Given the description of an element on the screen output the (x, y) to click on. 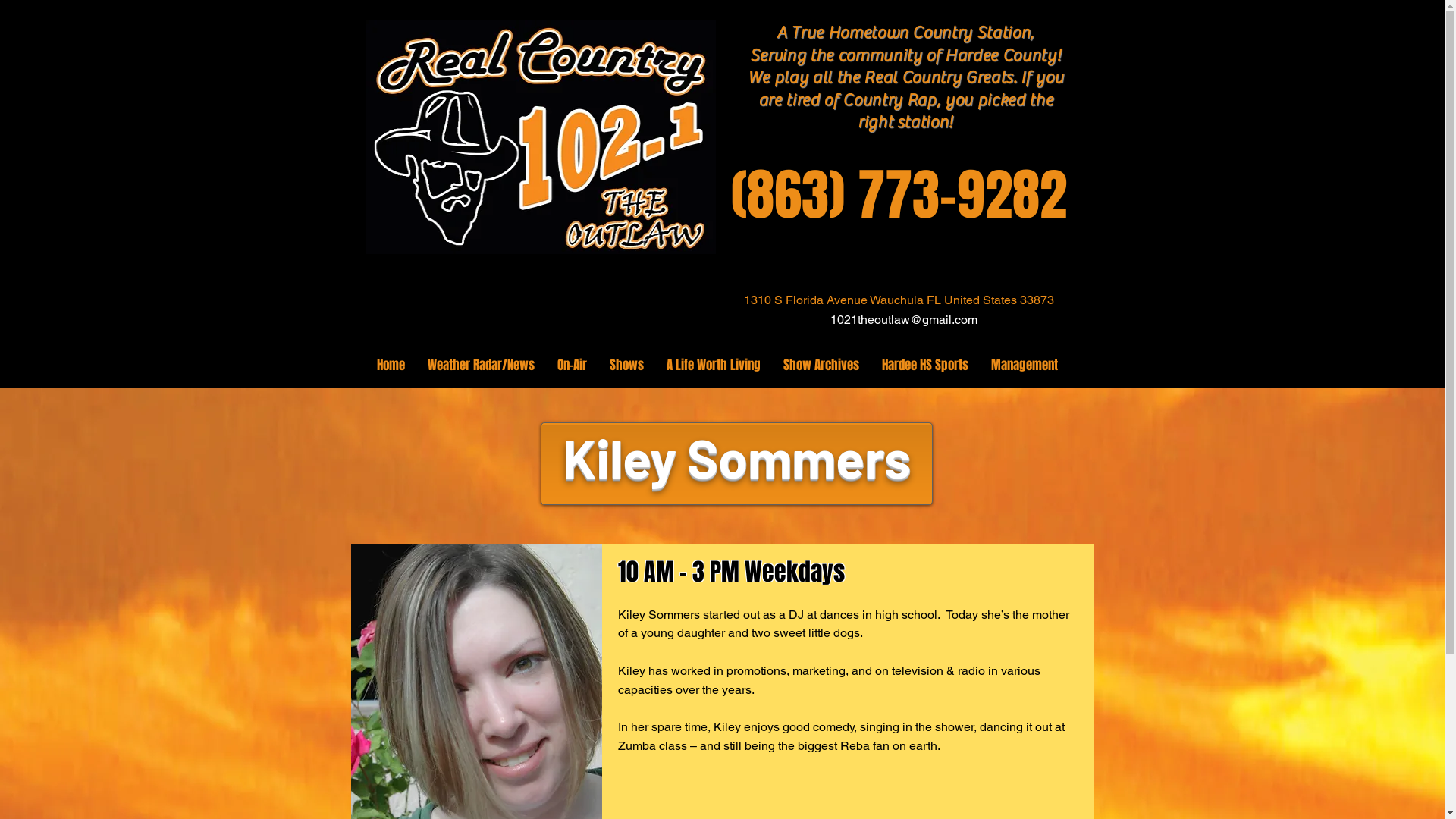
Show Archives Element type: text (820, 365)
Management Element type: text (1024, 365)
Weather Radar/News Element type: text (480, 365)
1021theoutlaw@gmail.com Element type: text (902, 319)
Shows Element type: text (625, 365)
A Life Worth Living Element type: text (713, 365)
Hardee HS Sports Element type: text (924, 365)
Home Element type: text (390, 365)
